Given the description of an element on the screen output the (x, y) to click on. 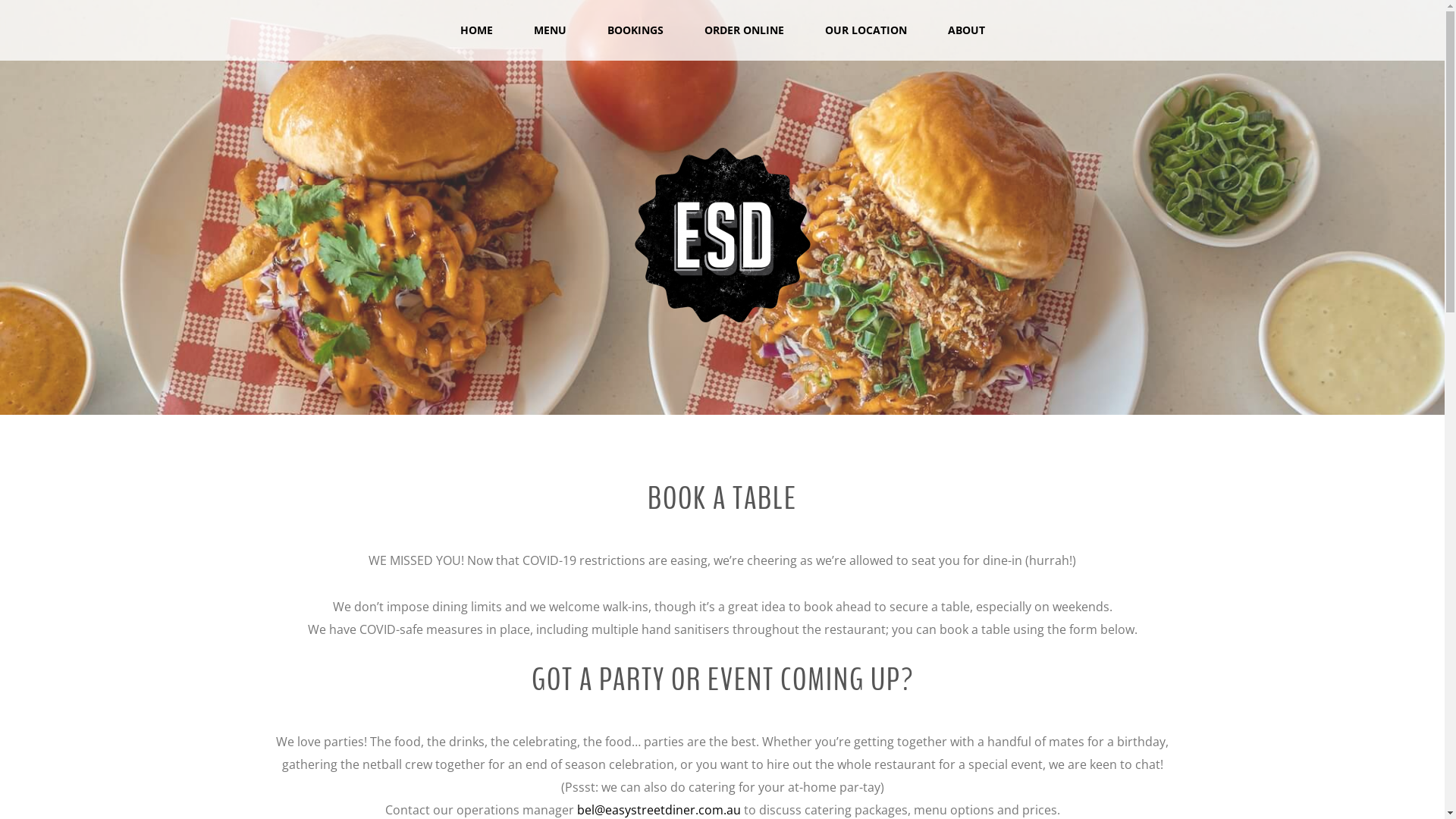
MENU Element type: text (549, 42)
ORDER ONLINE Element type: text (743, 42)
BOOKINGS Element type: text (634, 42)
ABOUT Element type: text (966, 42)
bel@easystreetdiner.com.au Element type: text (659, 809)
HOME Element type: text (475, 42)
OUR LOCATION Element type: text (865, 42)
